Given the description of an element on the screen output the (x, y) to click on. 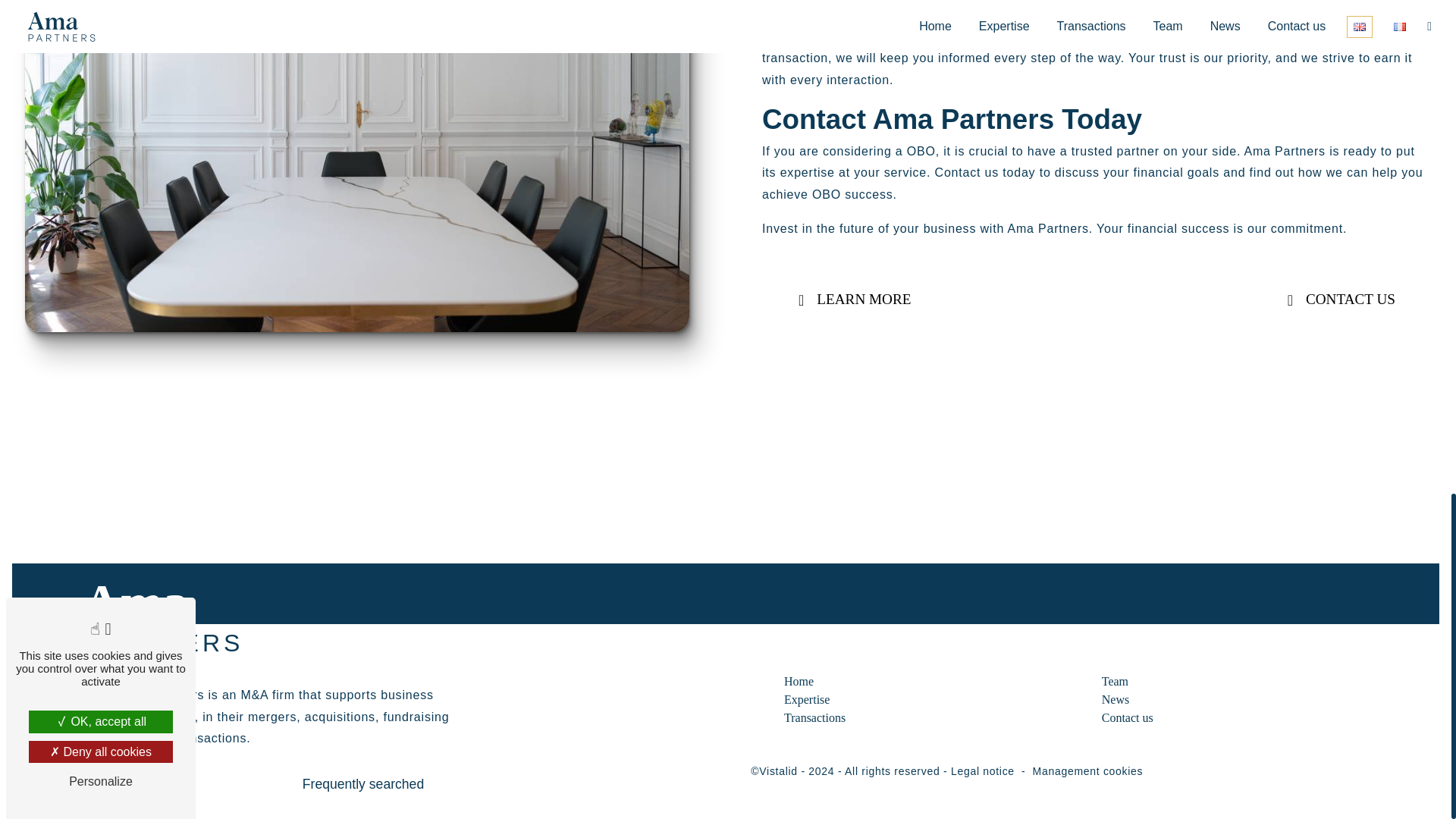
Transactions (814, 717)
Home (798, 680)
Expertise (806, 698)
Frequently searched (362, 783)
CONTACT US (1338, 300)
News (1115, 698)
Team (1115, 680)
LEARN MORE (851, 300)
Contact us (1127, 717)
